Given the description of an element on the screen output the (x, y) to click on. 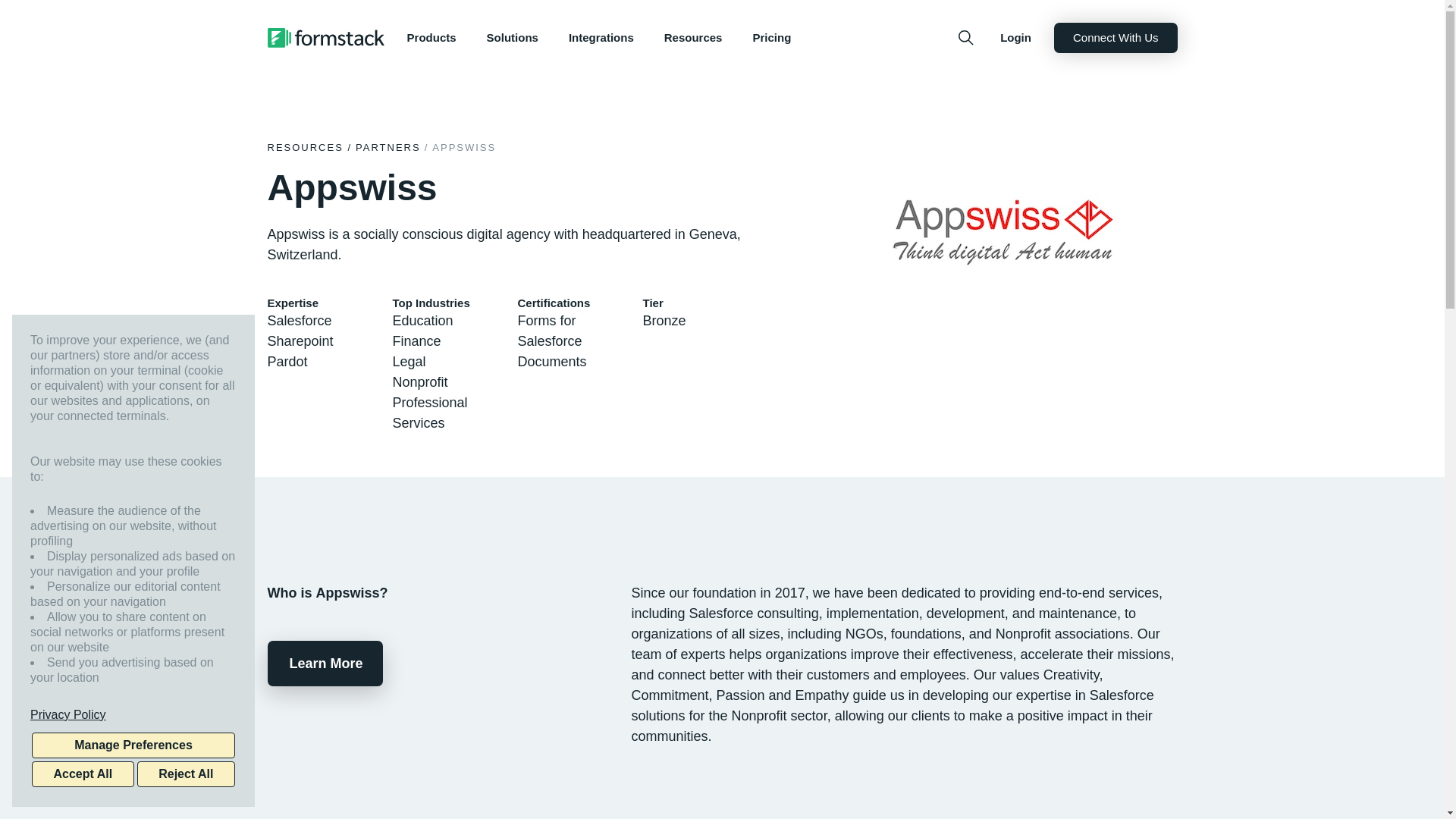
Products (431, 37)
Solutions (512, 37)
Accept All (82, 774)
Privacy Policy (132, 714)
Reject All (185, 774)
Manage Preferences (133, 745)
